Given the description of an element on the screen output the (x, y) to click on. 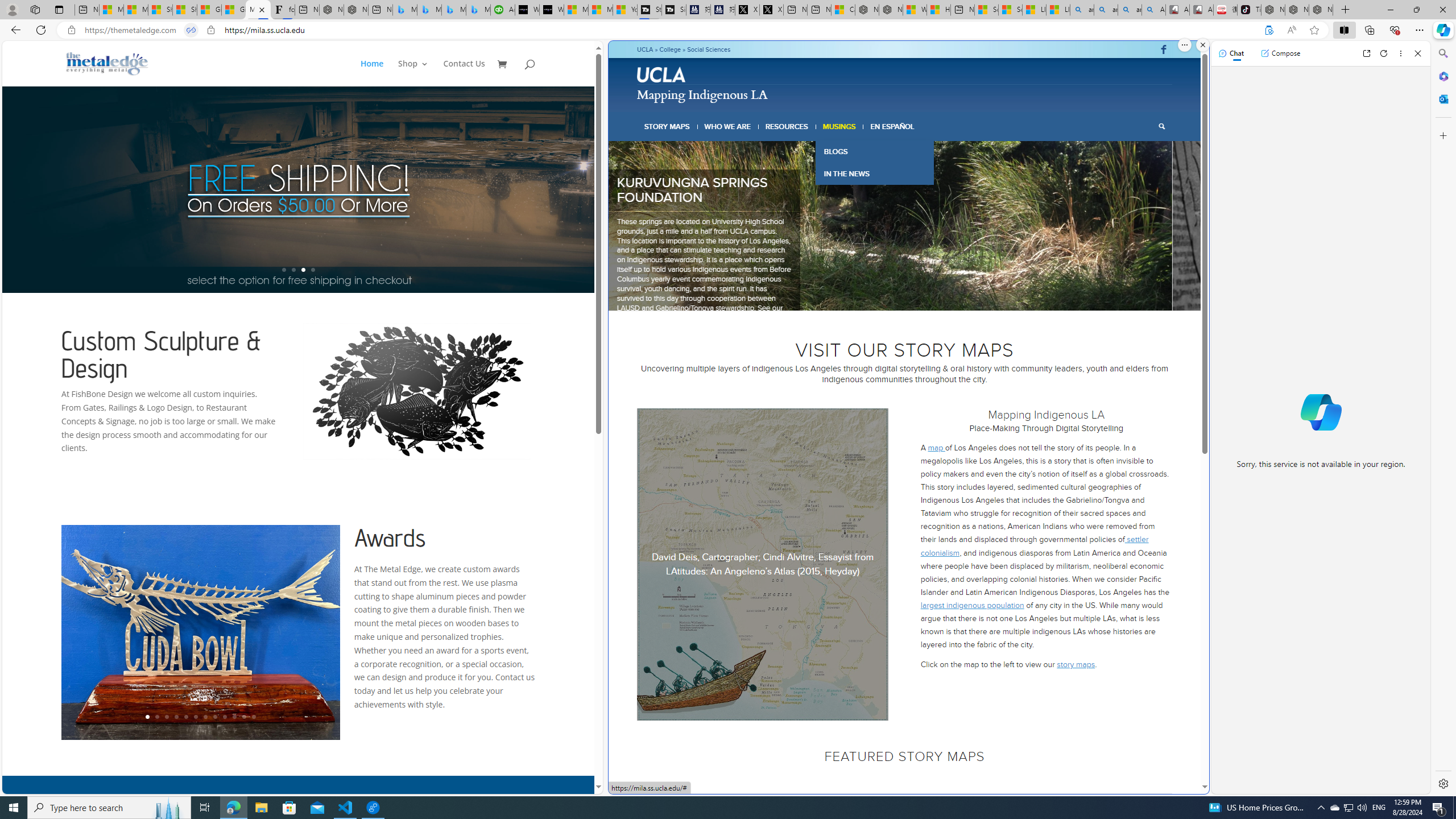
Exiled cropped (908, 225)
6 (918, 296)
MUSINGS BLOGS IN THE NEWS (839, 126)
story maps (1075, 664)
9 (224, 716)
Microsoft Bing Travel - Stays in Bangkok, Bangkok, Thailand (429, 9)
Shop3 (419, 72)
WHO WE ARE (727, 126)
10 (233, 716)
Gilma and Hector both pose tropical trouble for Hawaii (233, 9)
Contact Us (463, 72)
